Given the description of an element on the screen output the (x, y) to click on. 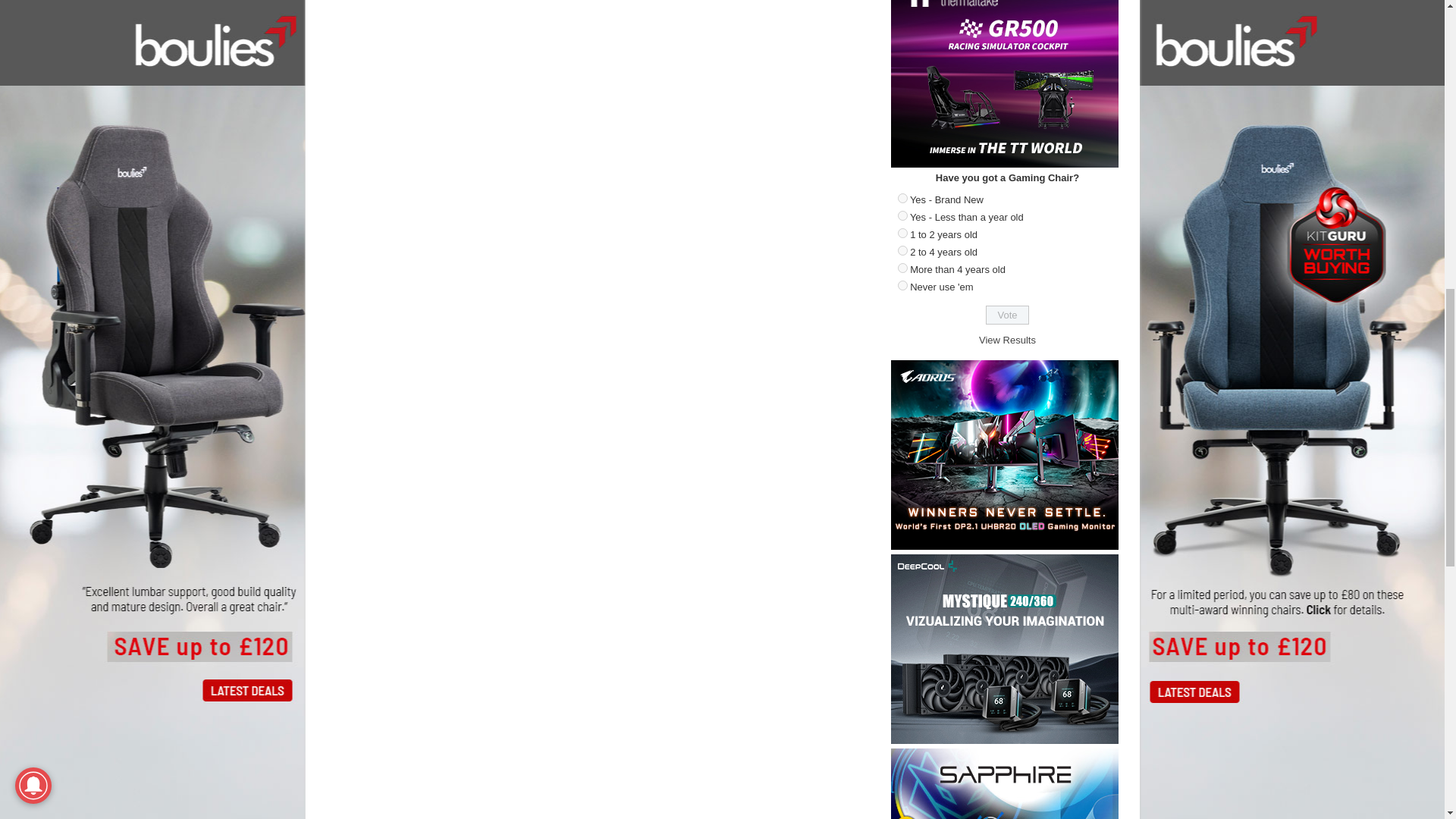
   Vote    (1007, 314)
1373 (902, 198)
1375 (902, 233)
1376 (902, 250)
1377 (902, 267)
View Results Of This Poll (1006, 339)
1378 (902, 285)
1374 (902, 215)
